Given the description of an element on the screen output the (x, y) to click on. 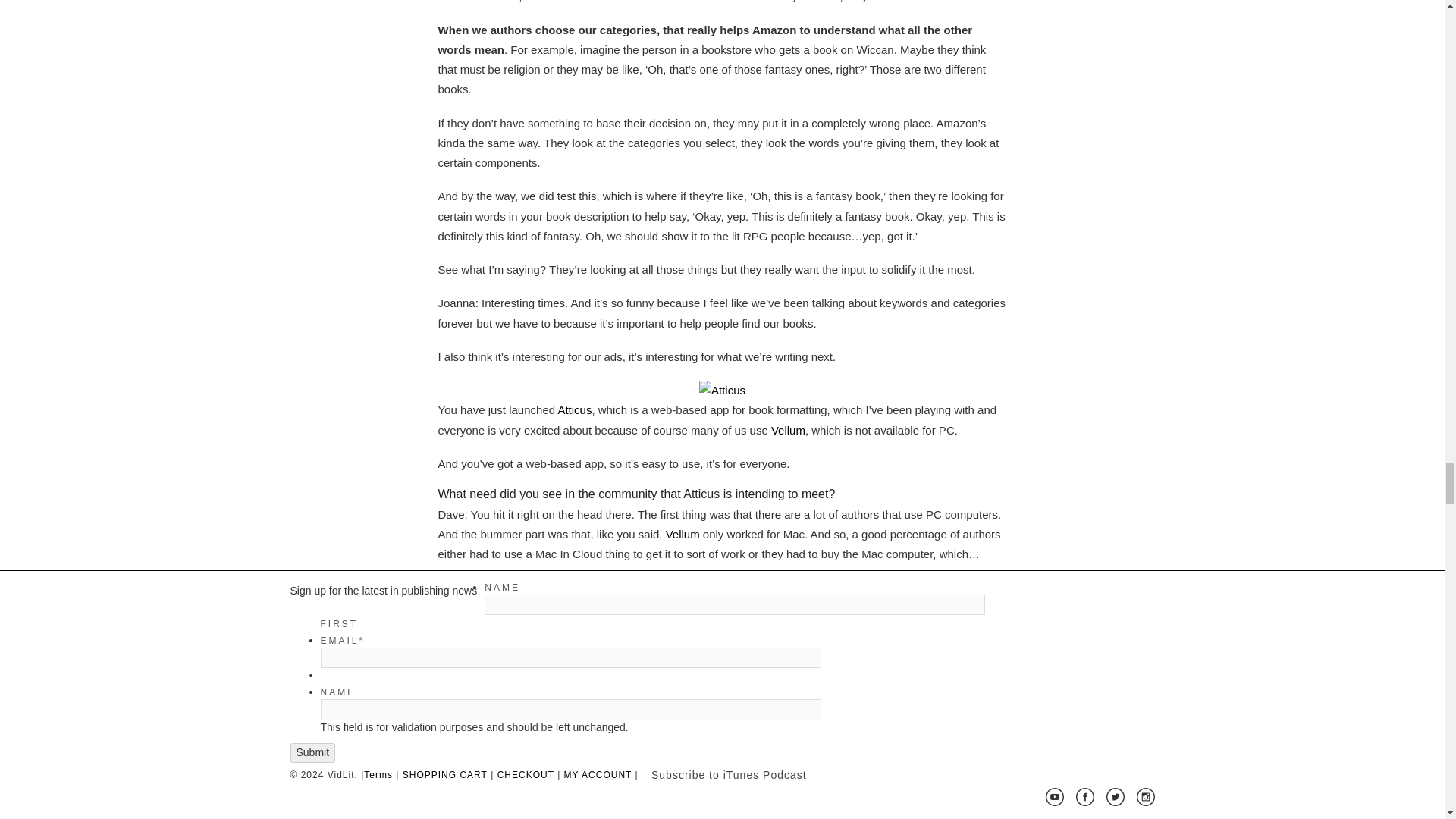
Vellum (788, 430)
Atticus (574, 409)
Vellum (682, 533)
